Given the description of an element on the screen output the (x, y) to click on. 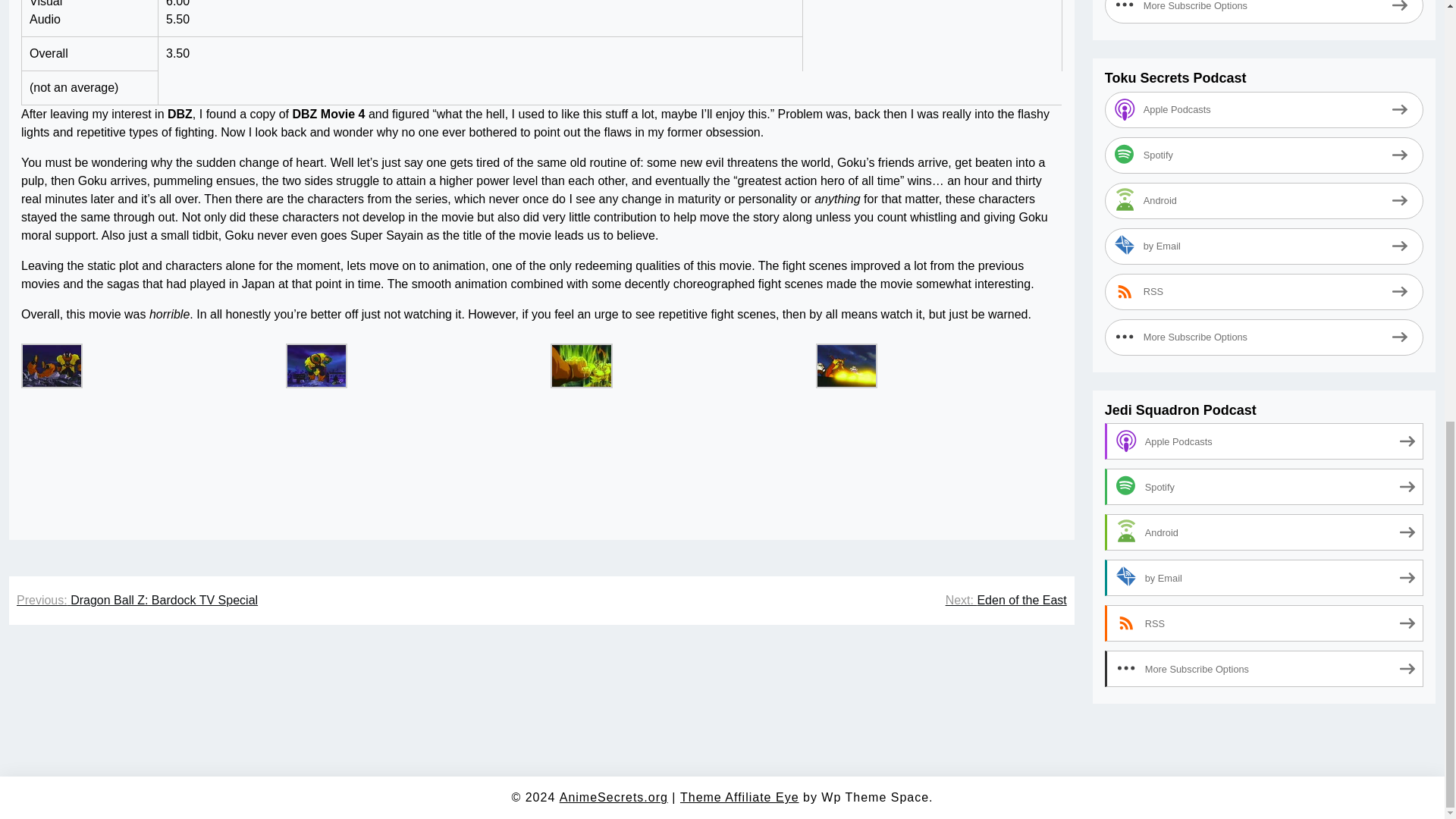
Subscribe on Android (1264, 182)
More Subscribe Options (1264, 319)
Subscribe on Apple Podcasts (1264, 91)
Subscribe on Spotify (1264, 136)
Subscribe on Android (1264, 514)
Subscribe on Apple Podcasts (1264, 422)
More Subscribe Options (1264, 2)
Subscribe on Spotify (1264, 468)
Subscribe by Email (1264, 227)
Subscribe via RSS (1264, 273)
